Given the description of an element on the screen output the (x, y) to click on. 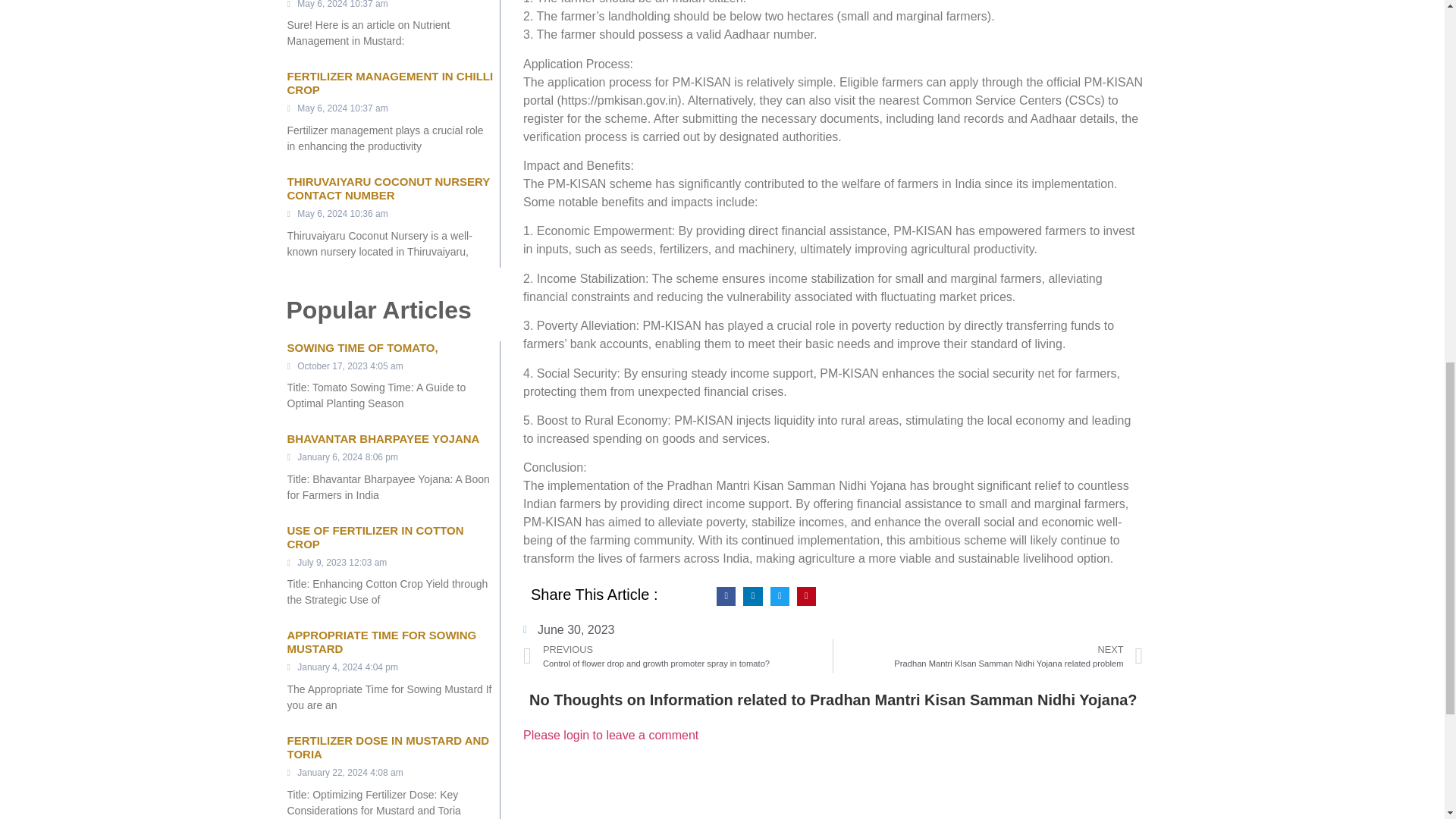
APPROPRIATE TIME FOR SOWING MUSTARD (381, 641)
BHAVANTAR BHARPAYEE YOJANA (382, 438)
THIRUVAIYARU COCONUT NURSERY CONTACT NUMBER (387, 188)
FERTILIZER DOSE IN MUSTARD AND TORIA (387, 746)
Please login to leave a comment (610, 735)
FERTILIZER MANAGEMENT IN CHILLI CROP (389, 82)
USE OF FERTILIZER IN COTTON CROP (374, 537)
SOWING TIME OF TOMATO, (362, 347)
June 30, 2023 (568, 629)
